Given the description of an element on the screen output the (x, y) to click on. 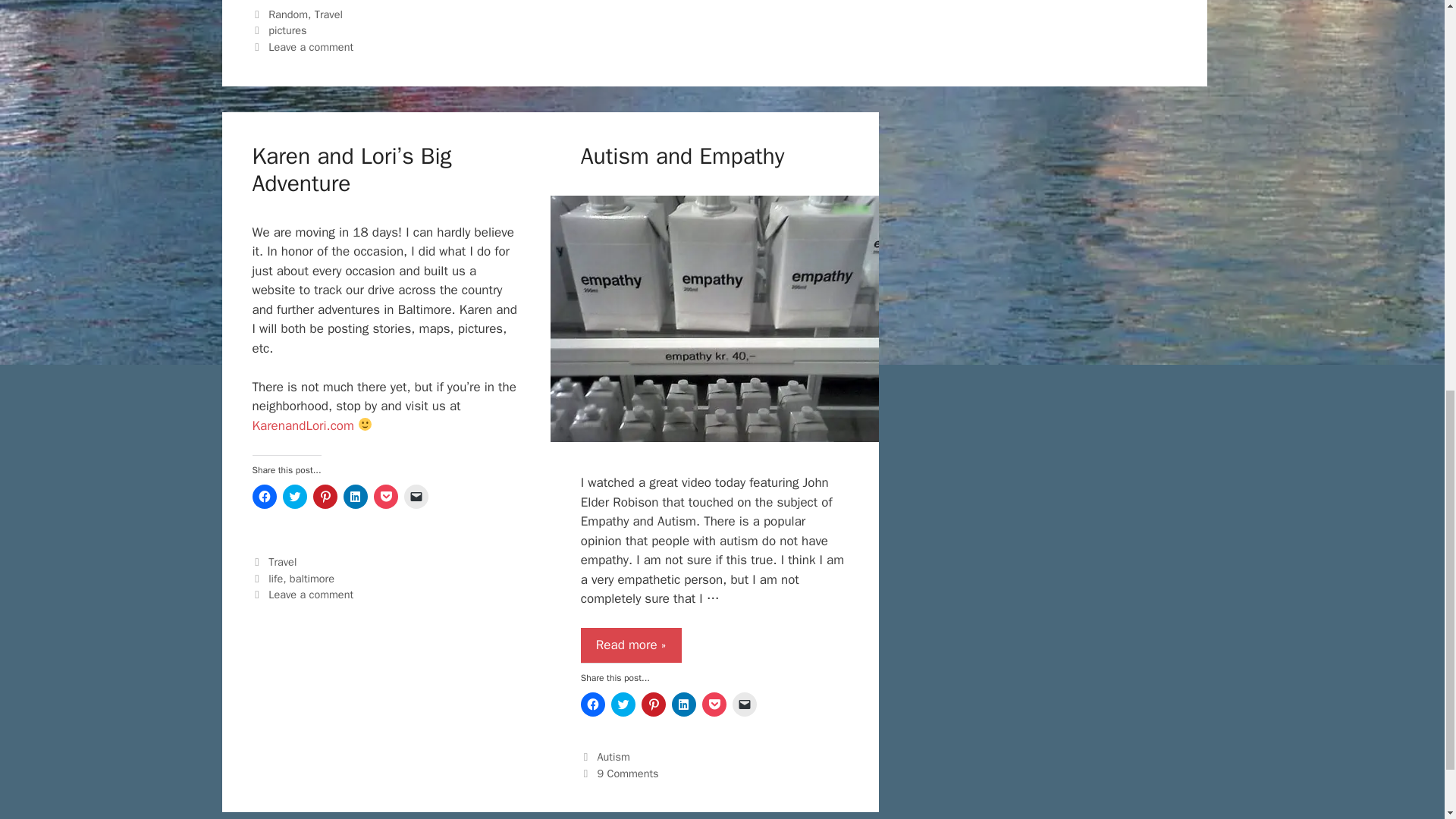
Click to share on Facebook (263, 496)
